Given the description of an element on the screen output the (x, y) to click on. 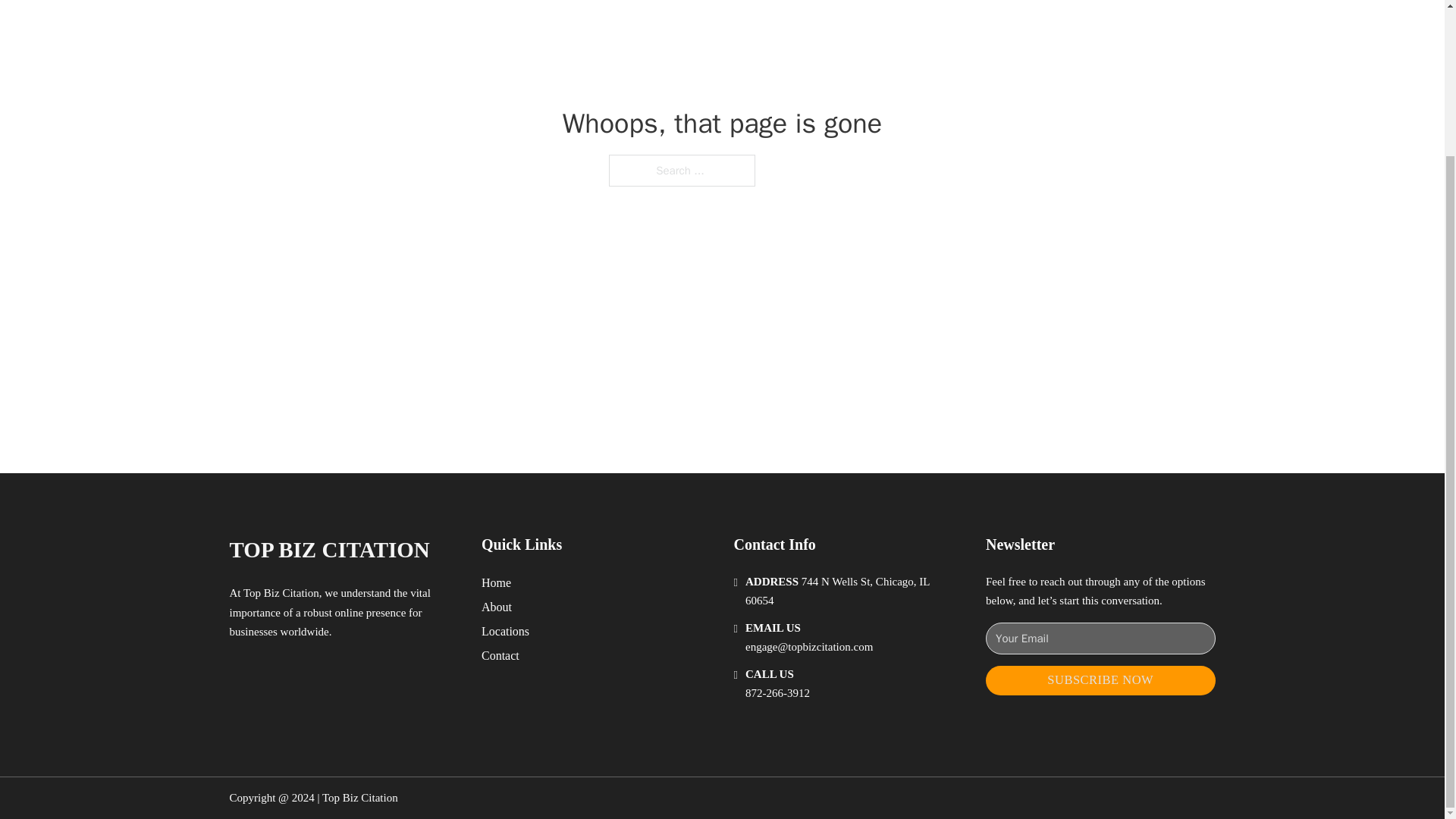
Contact (500, 655)
SUBSCRIBE NOW (1100, 680)
Locations (505, 630)
872-266-3912 (777, 693)
Home (496, 582)
TOP BIZ CITATION (328, 549)
About (496, 607)
